Given the description of an element on the screen output the (x, y) to click on. 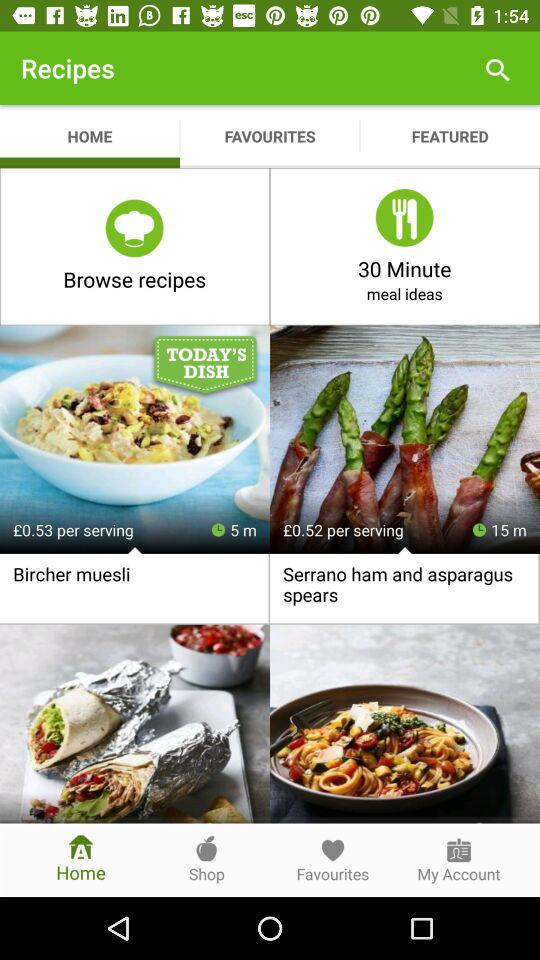
click item next to favourites app (497, 67)
